Given the description of an element on the screen output the (x, y) to click on. 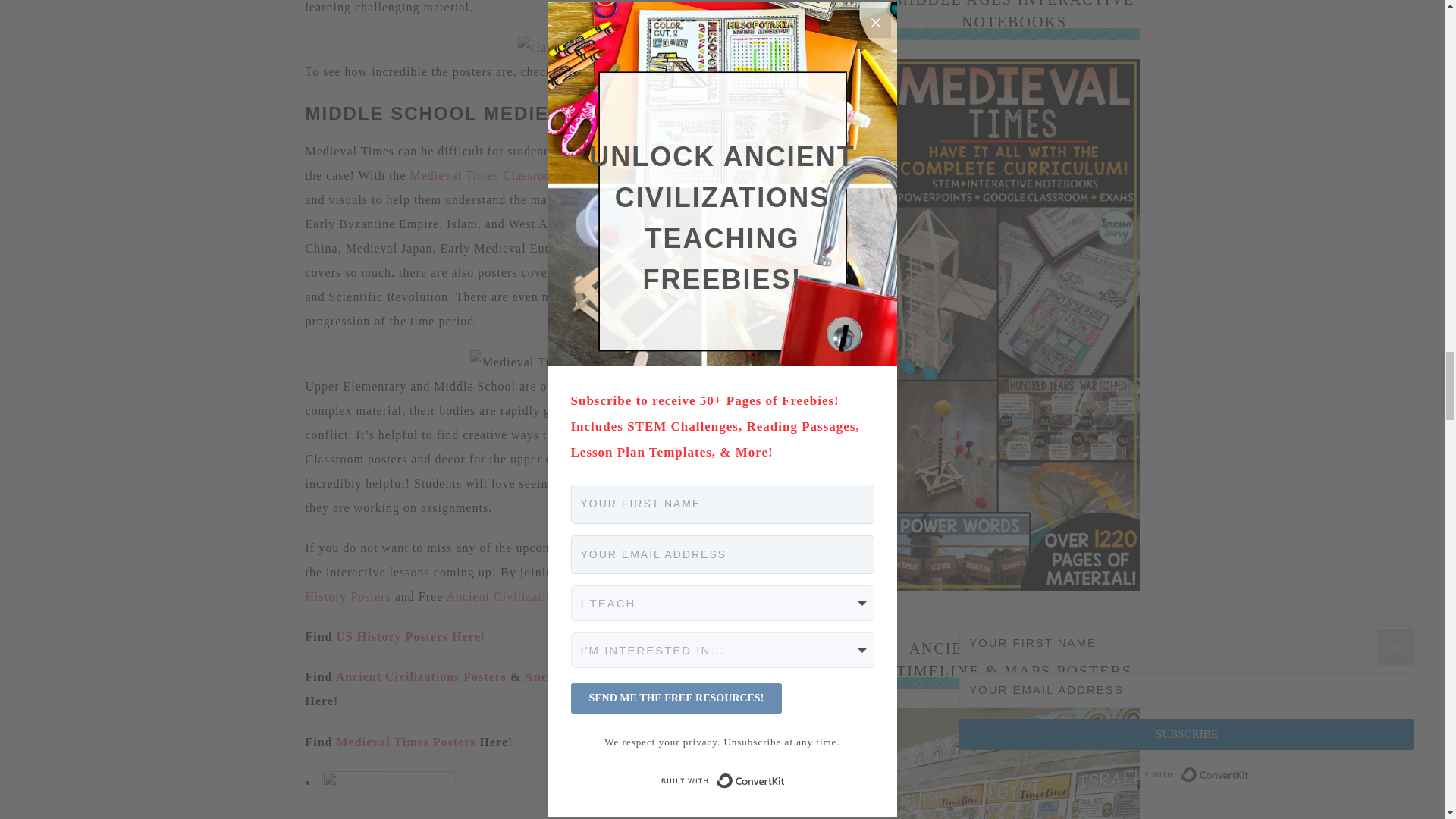
Middle Ages Interactive Notebooks (1013, 585)
